Given the description of an element on the screen output the (x, y) to click on. 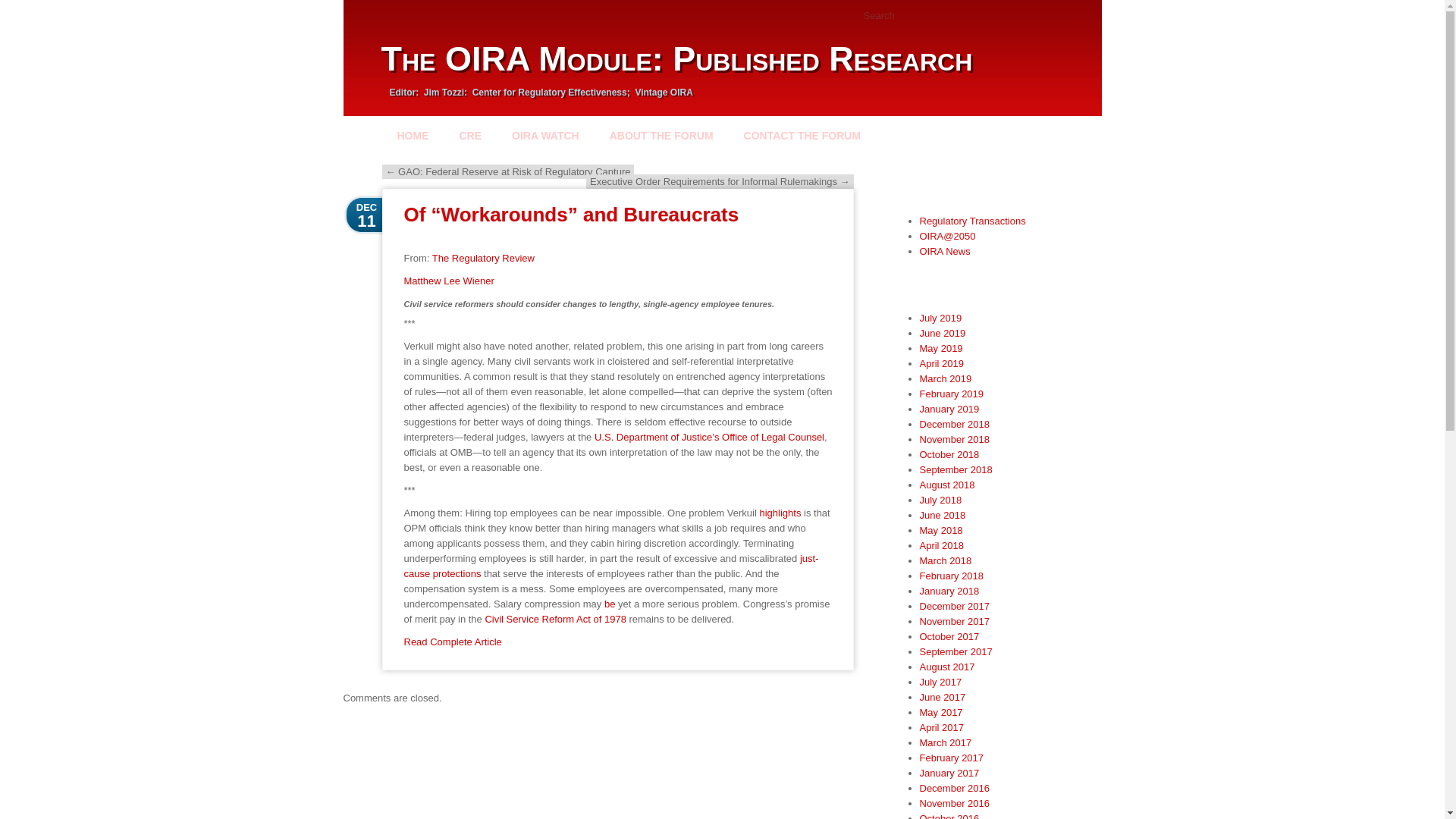
Read Complete Article (451, 641)
July 2019 (939, 317)
September 2018 (954, 469)
December 2018 (954, 423)
just-cause protections (610, 565)
June 2019 (941, 333)
April 2018 (940, 545)
OIRA WATCH (545, 135)
March 2019 (944, 378)
Office of Legal Counsel (773, 437)
